Given the description of an element on the screen output the (x, y) to click on. 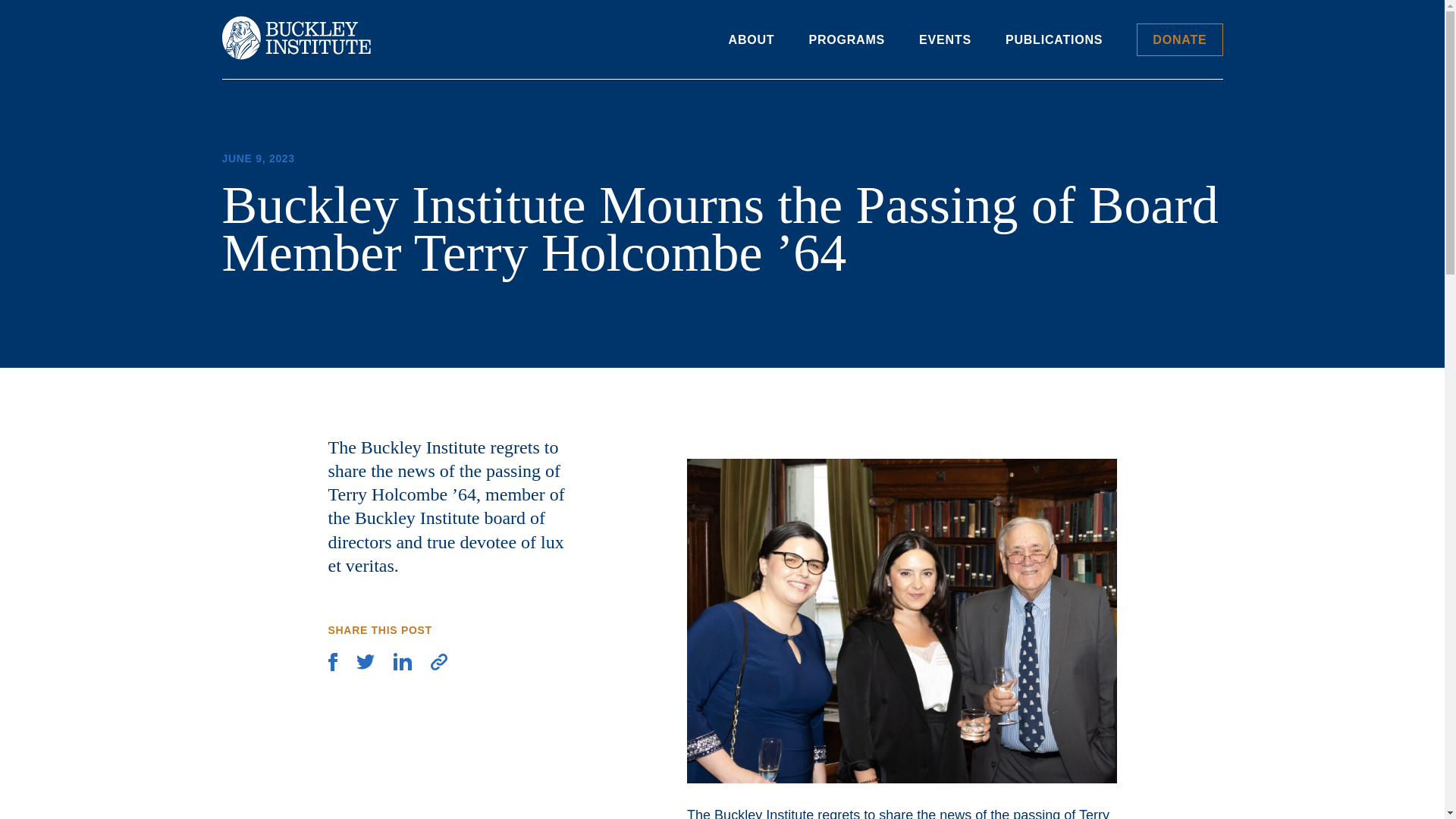
EVENTS (944, 39)
PUBLICATIONS (1054, 39)
ABOUT (751, 39)
DONATE (1180, 39)
Linkedin (401, 662)
Twitter (365, 663)
PROGRAMS (846, 39)
